Given the description of an element on the screen output the (x, y) to click on. 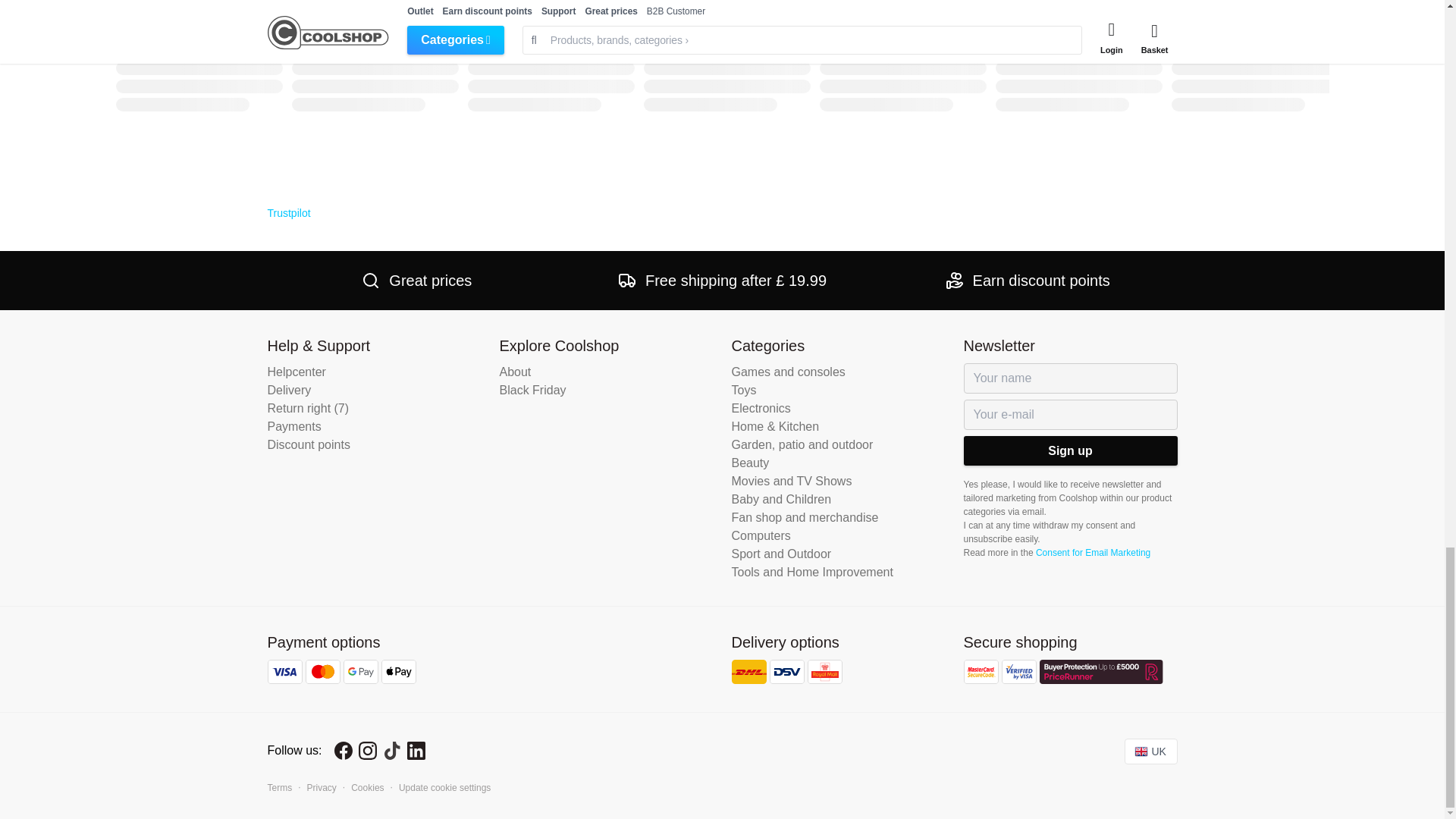
Instagram (367, 751)
TikTok (391, 751)
LinkedIn (416, 751)
Facebook (343, 751)
